Given the description of an element on the screen output the (x, y) to click on. 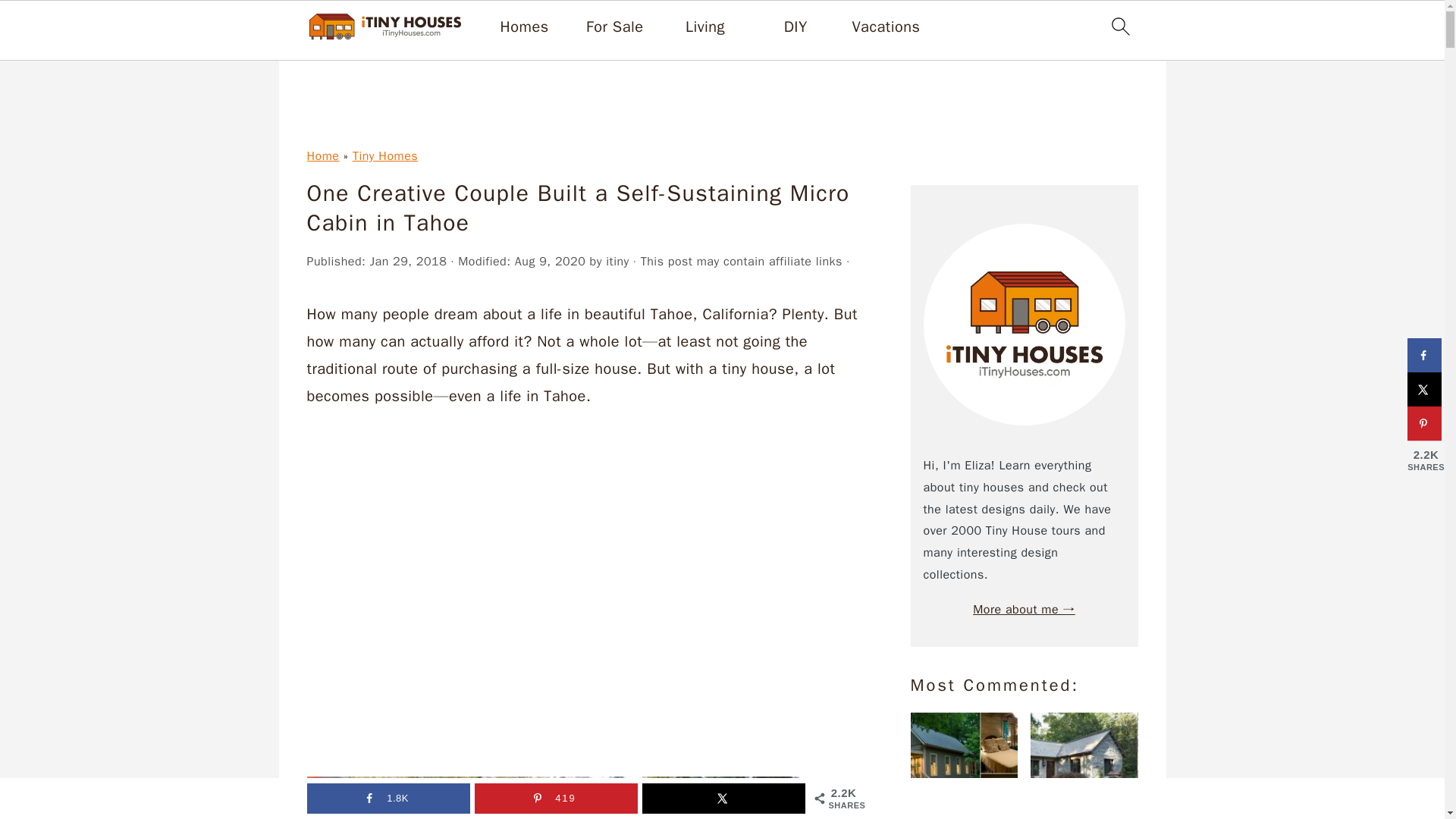
search icon (1119, 30)
Living (705, 27)
search icon (1119, 26)
For Sale (614, 27)
DIY (796, 27)
Vacations (885, 27)
Homes (524, 27)
